Given the description of an element on the screen output the (x, y) to click on. 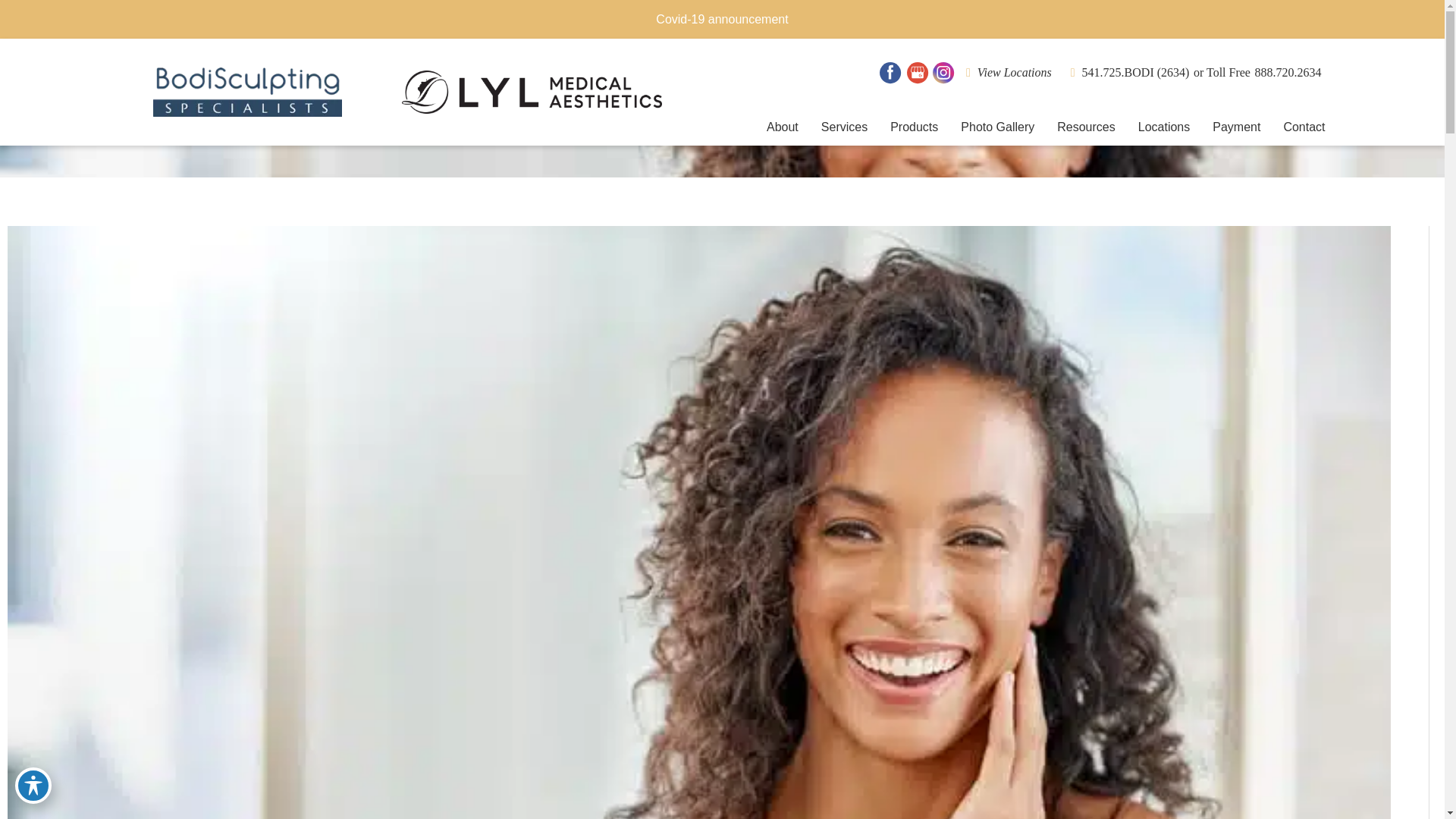
LYL Logo (531, 90)
About (782, 127)
bss logo navy2 (247, 90)
Covid-19 announcement (721, 19)
Services (844, 127)
View Locations (1012, 72)
888.720.2634 (1288, 72)
